Given the description of an element on the screen output the (x, y) to click on. 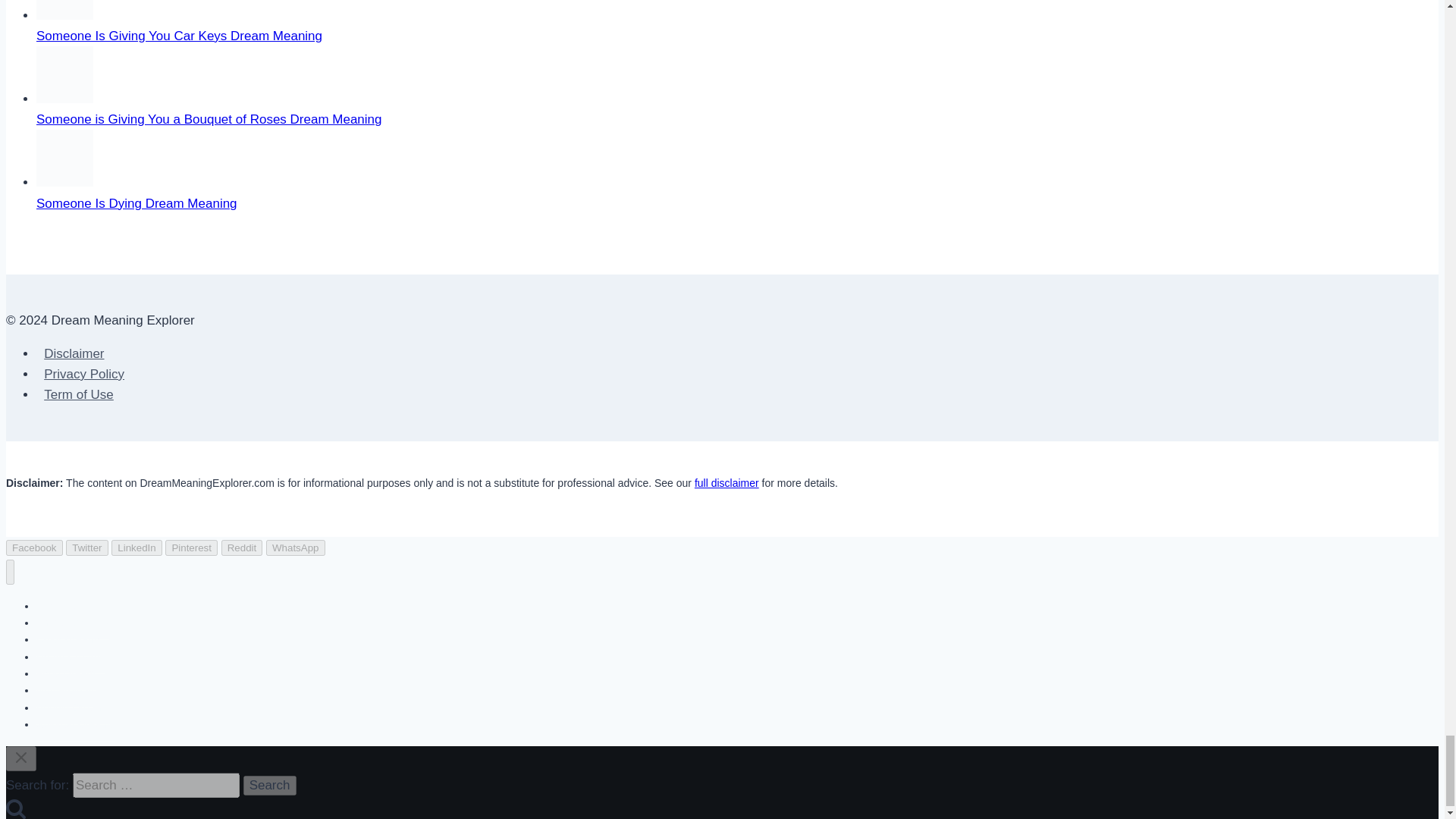
Search (270, 785)
Search (270, 785)
Toggle Menu Close (20, 757)
